Given the description of an element on the screen output the (x, y) to click on. 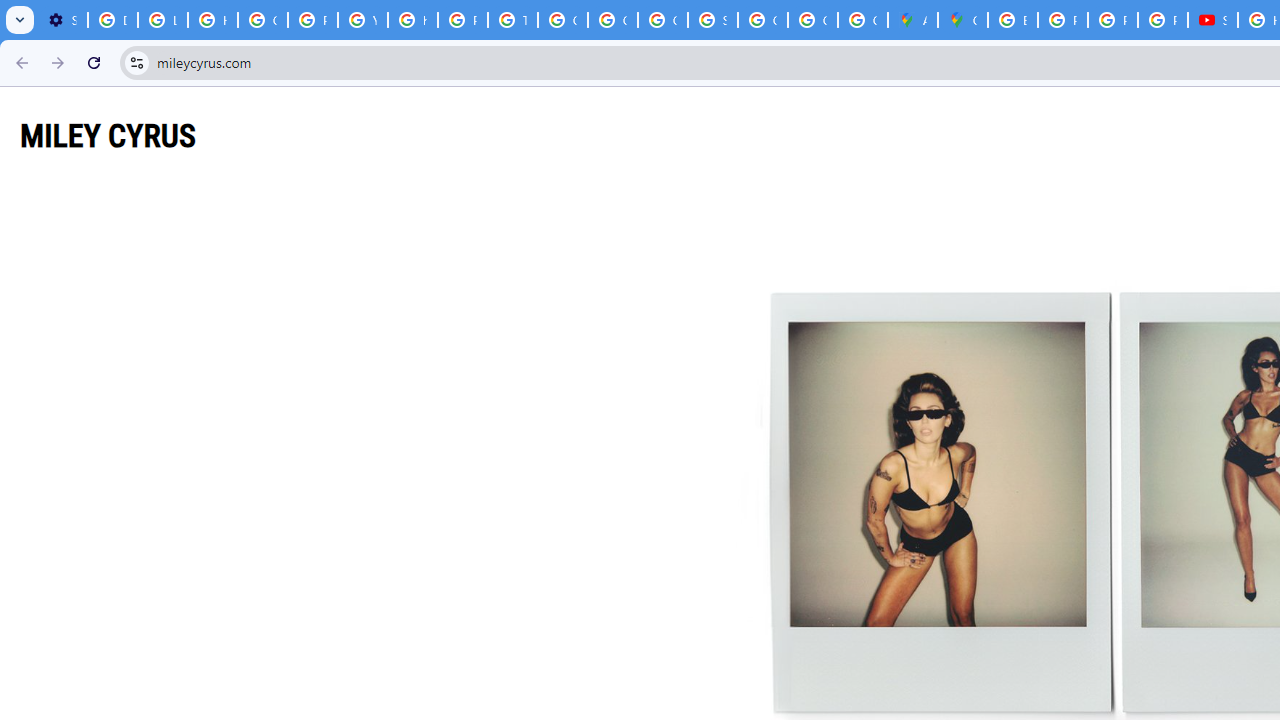
Blogger Policies and Guidelines - Transparency Center (1013, 20)
Privacy Help Center - Policies Help (312, 20)
